Given the description of an element on the screen output the (x, y) to click on. 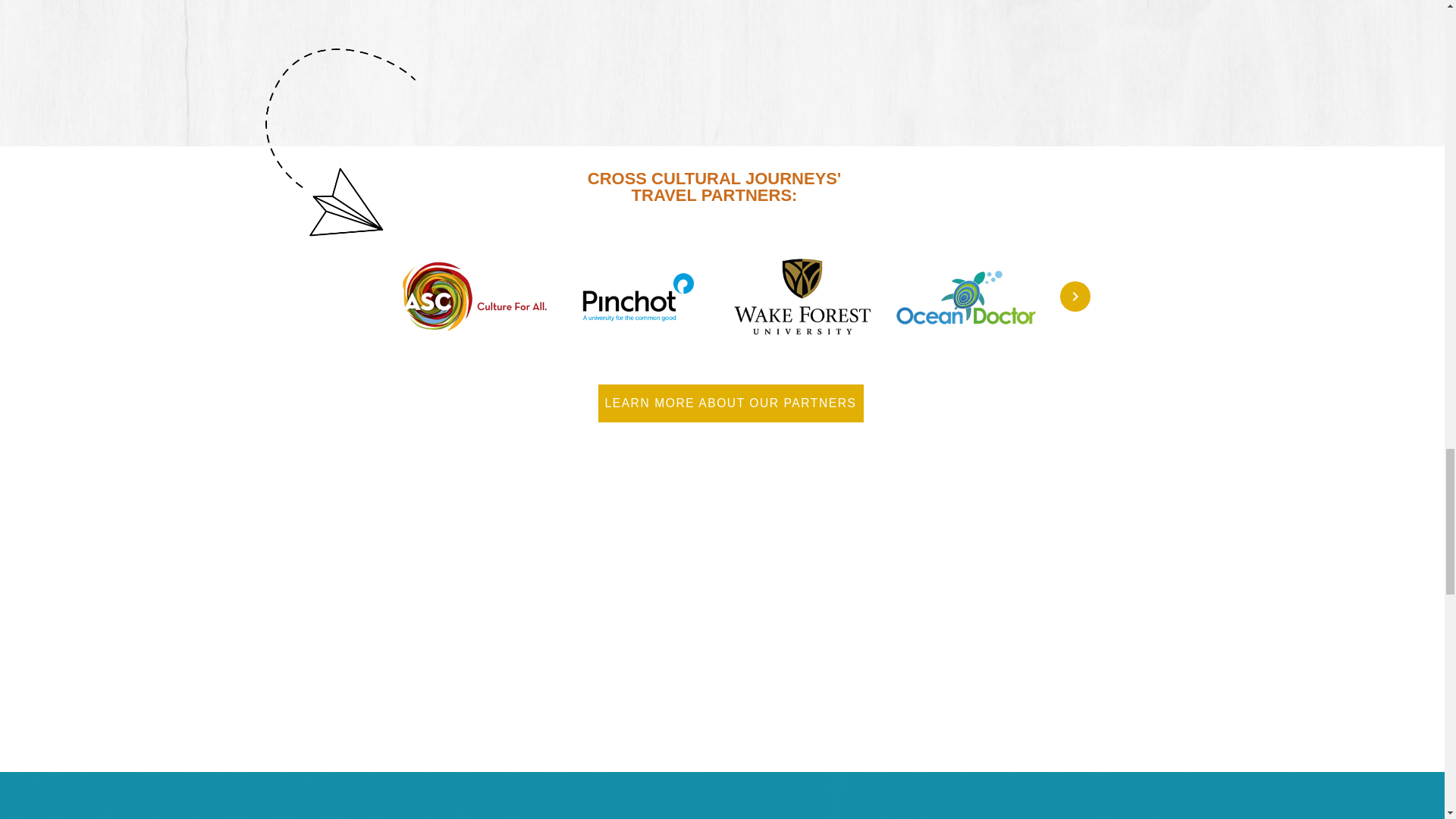
LEARN MORE ABOUT OUR PARTNERS (729, 403)
